Given the description of an element on the screen output the (x, y) to click on. 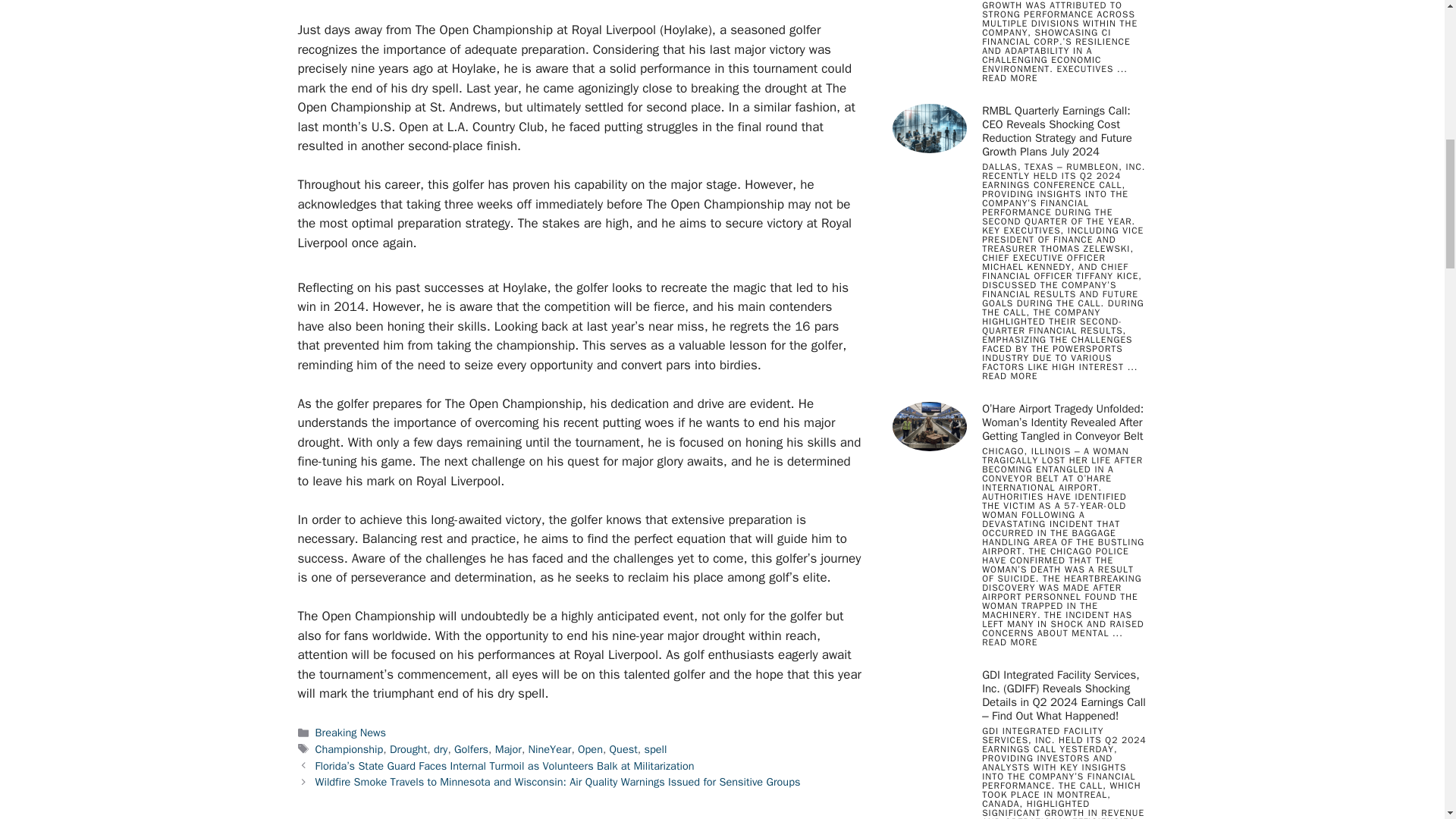
Open (590, 748)
READ MORE (1008, 376)
Major (508, 748)
spell (654, 748)
Breaking News (350, 732)
Golfers (470, 748)
Drought (408, 748)
Quest (623, 748)
Championship (349, 748)
